Given the description of an element on the screen output the (x, y) to click on. 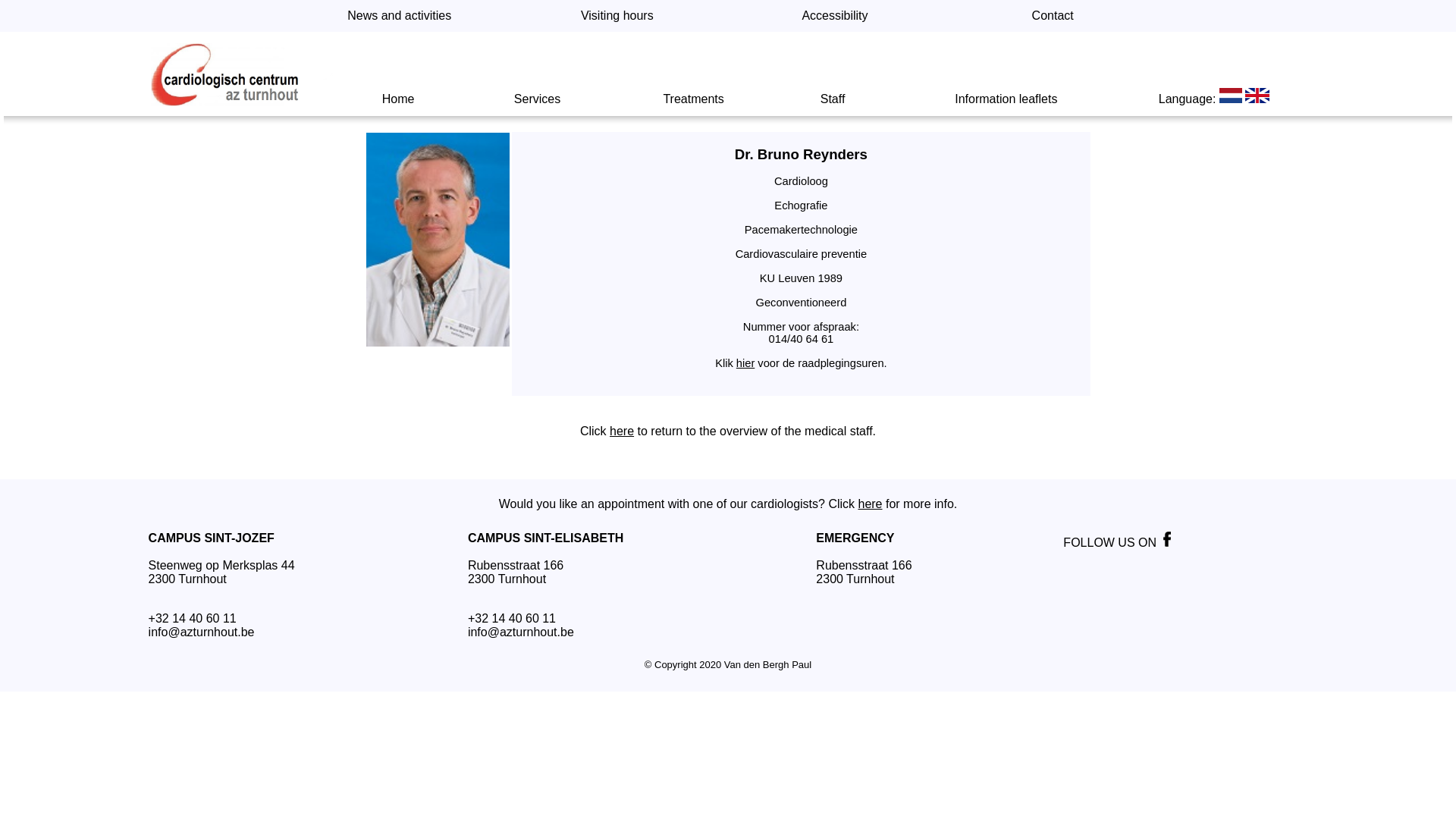
: Element type: text (1215, 98)
Services Element type: text (537, 98)
hier Element type: text (745, 363)
Visiting hours Element type: text (616, 15)
here Element type: text (621, 430)
here Element type: text (869, 503)
Accessibility Element type: text (834, 15)
info@azturnhout.be Element type: text (201, 631)
News and activities Element type: text (399, 15)
info@azturnhout.be Element type: text (520, 631)
Treatments Element type: text (692, 98)
Home Element type: text (398, 98)
Staff Element type: text (832, 98)
Information leaflets Element type: text (1005, 98)
Contact Element type: text (1052, 15)
